Given the description of an element on the screen output the (x, y) to click on. 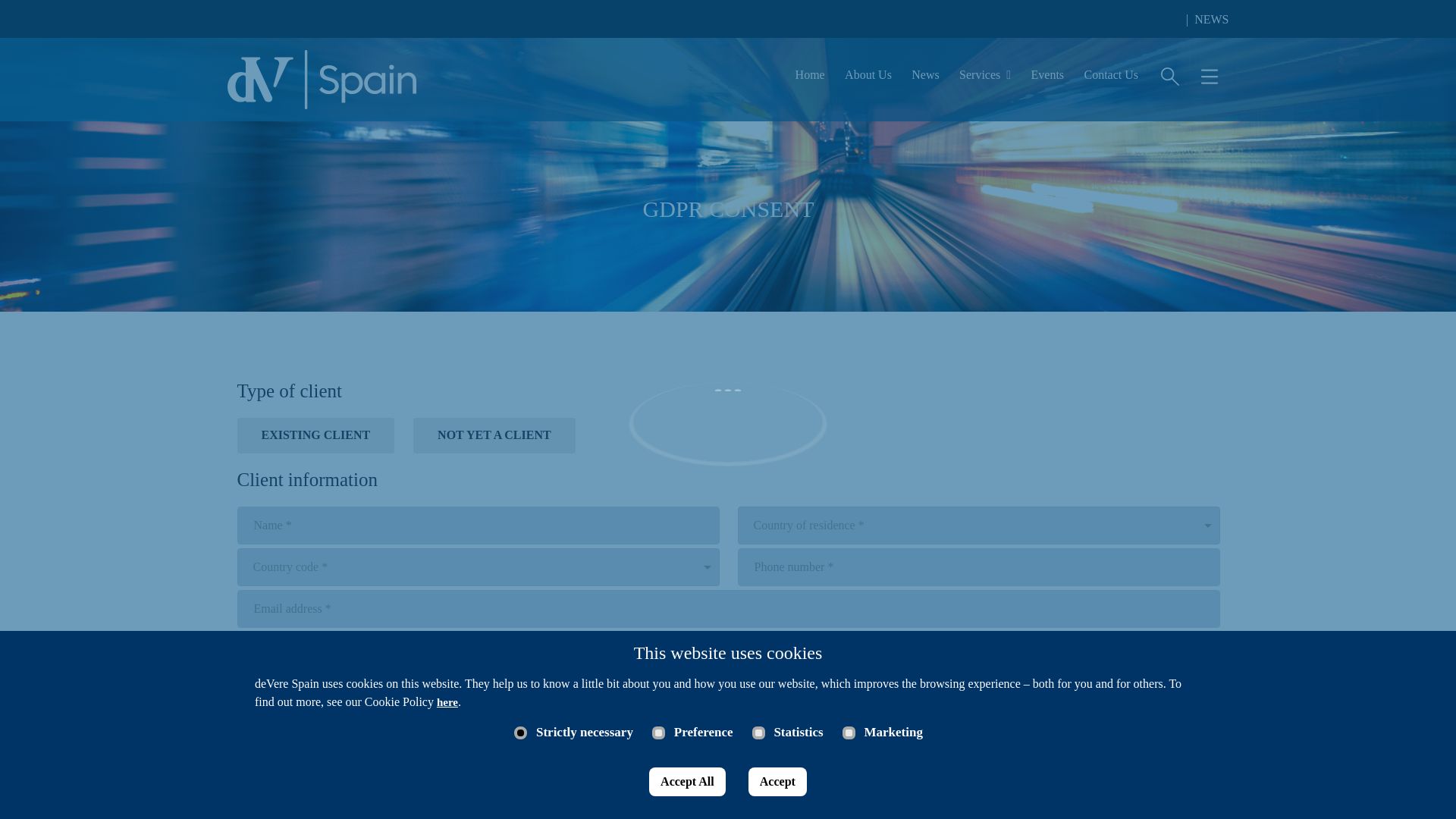
Services   (984, 79)
Home (809, 79)
Events (1047, 79)
Contact Us (1110, 79)
About Us (867, 79)
News (925, 79)
